Given the description of an element on the screen output the (x, y) to click on. 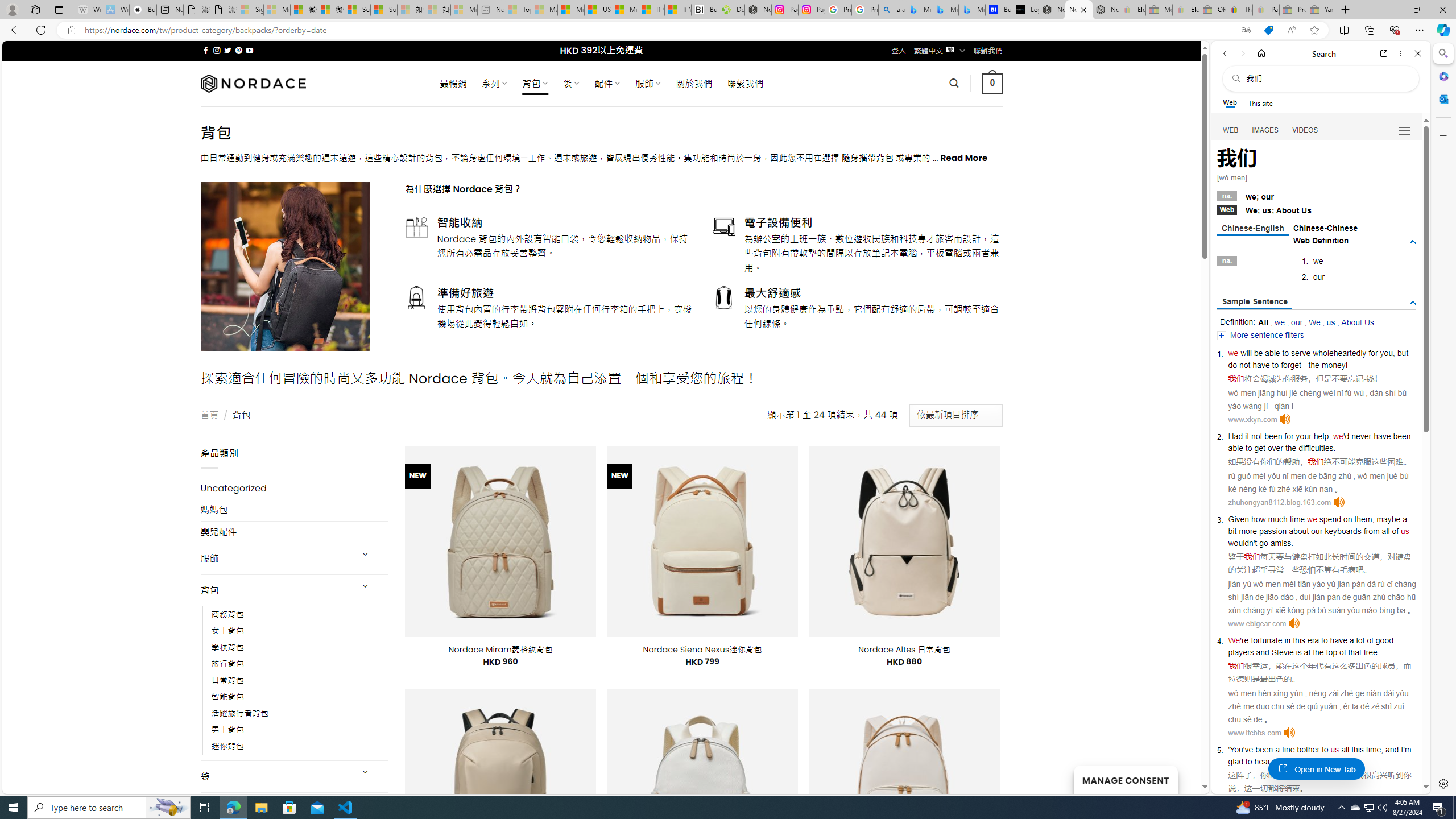
Yard, Garden & Outdoor Living - Sleeping (1319, 9)
to (1323, 640)
Microsoft Bing Travel - Shangri-La Hotel Bangkok (971, 9)
us (1334, 749)
